Given the description of an element on the screen output the (x, y) to click on. 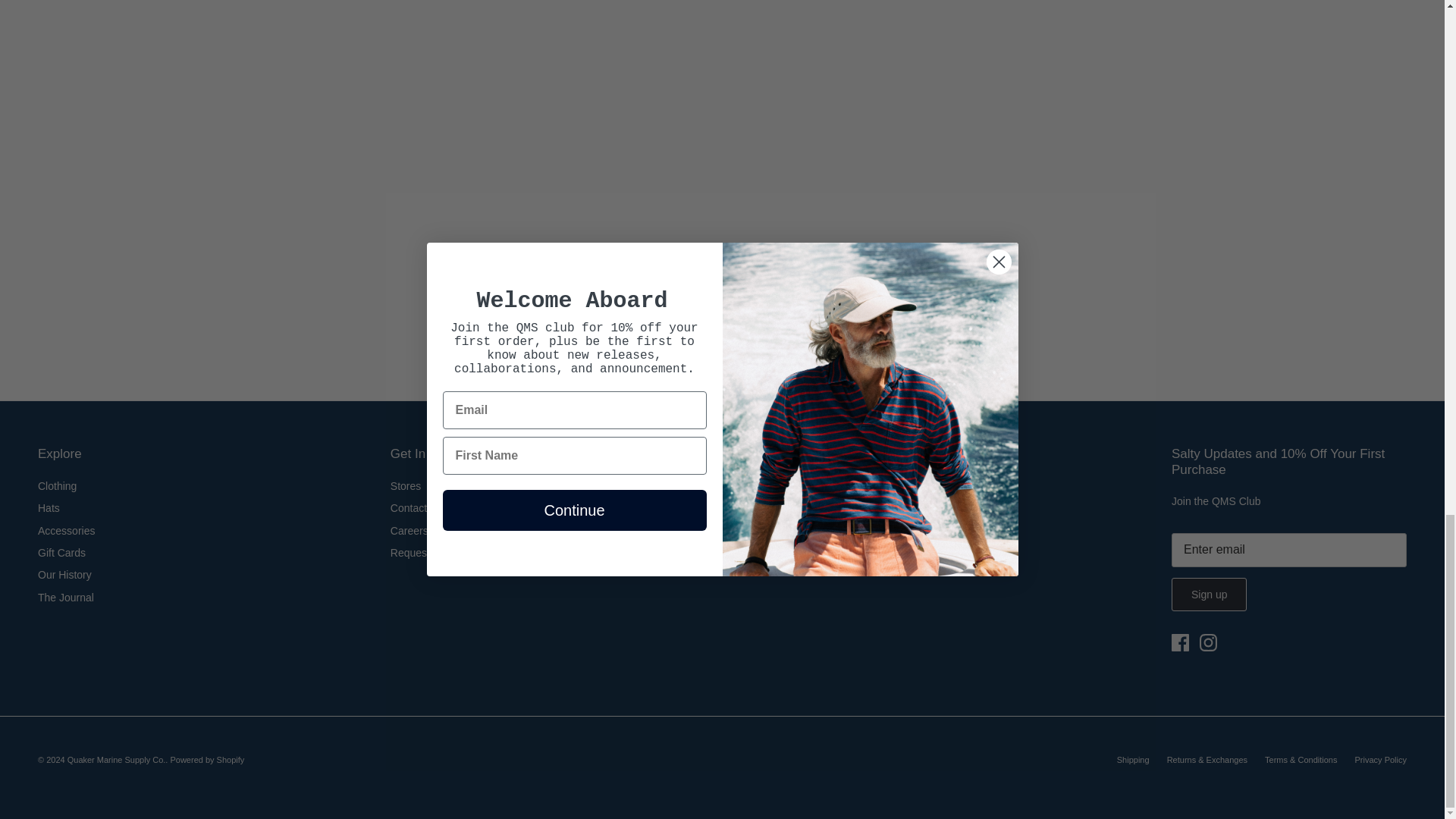
Facebook (1180, 642)
Instagram (1208, 642)
